Given the description of an element on the screen output the (x, y) to click on. 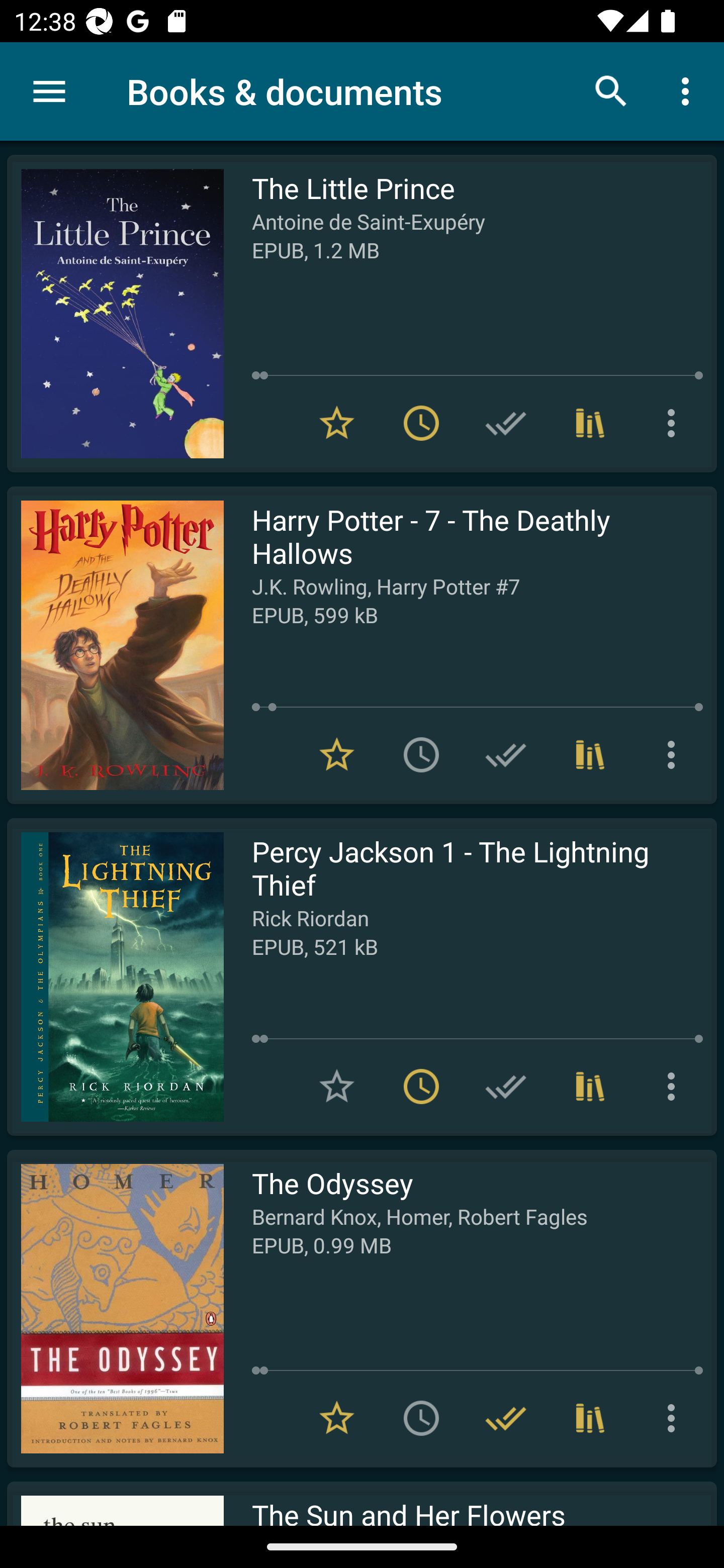
Menu (49, 91)
Search books & documents (611, 90)
More options (688, 90)
Read The Little Prince (115, 313)
Remove from Favorites (336, 423)
Remove from To read (421, 423)
Add to Have read (505, 423)
Collections (1) (590, 423)
More options (674, 423)
Read Harry Potter - 7 - The Deathly Hallows (115, 645)
Remove from Favorites (336, 753)
Add to To read (421, 753)
Add to Have read (505, 753)
Collections (3) (590, 753)
More options (674, 753)
Read Percy Jackson 1 - The Lightning Thief (115, 976)
Add to Favorites (336, 1086)
